Given the description of an element on the screen output the (x, y) to click on. 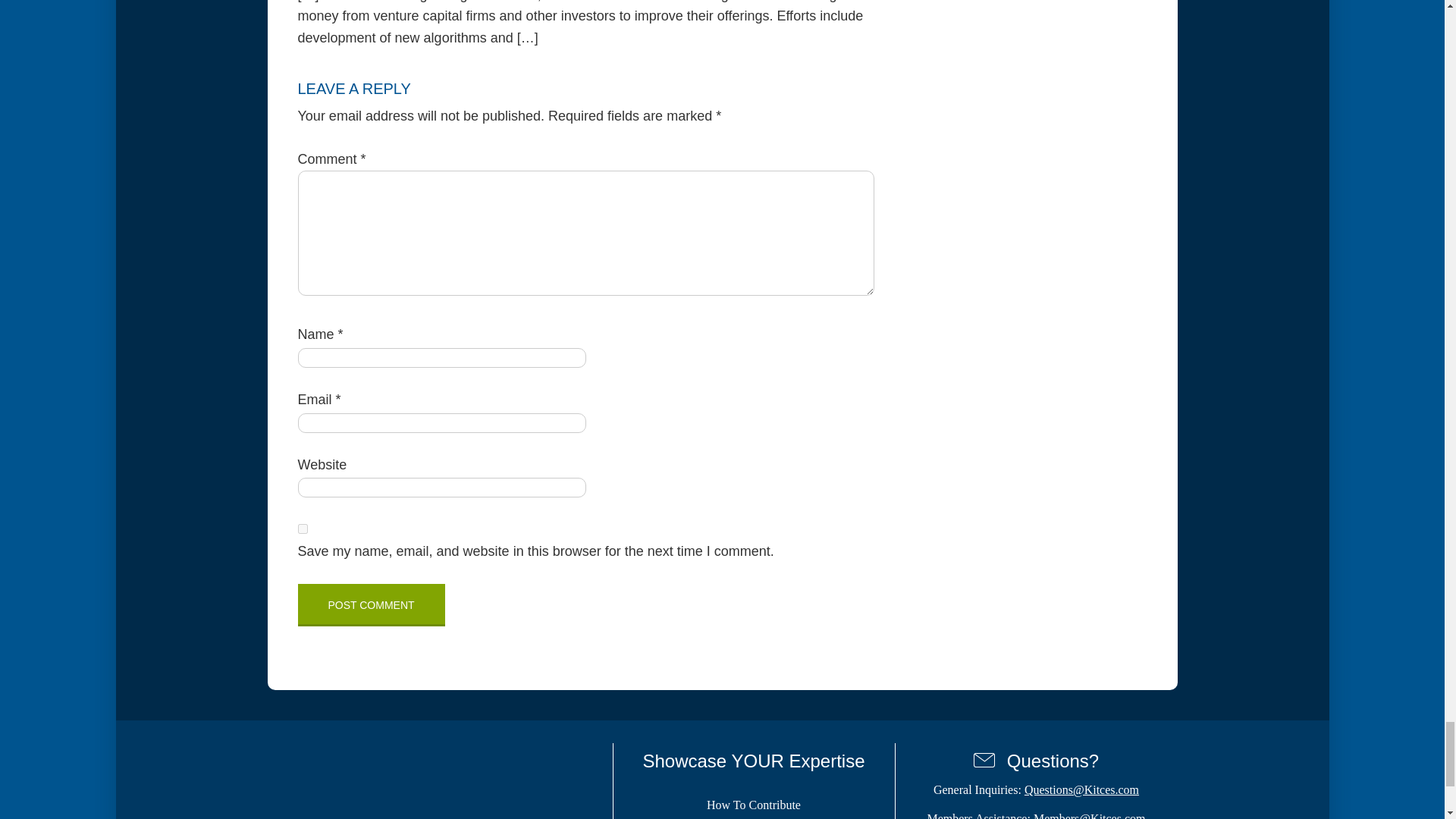
yes (302, 528)
Post Comment (370, 604)
